Given the description of an element on the screen output the (x, y) to click on. 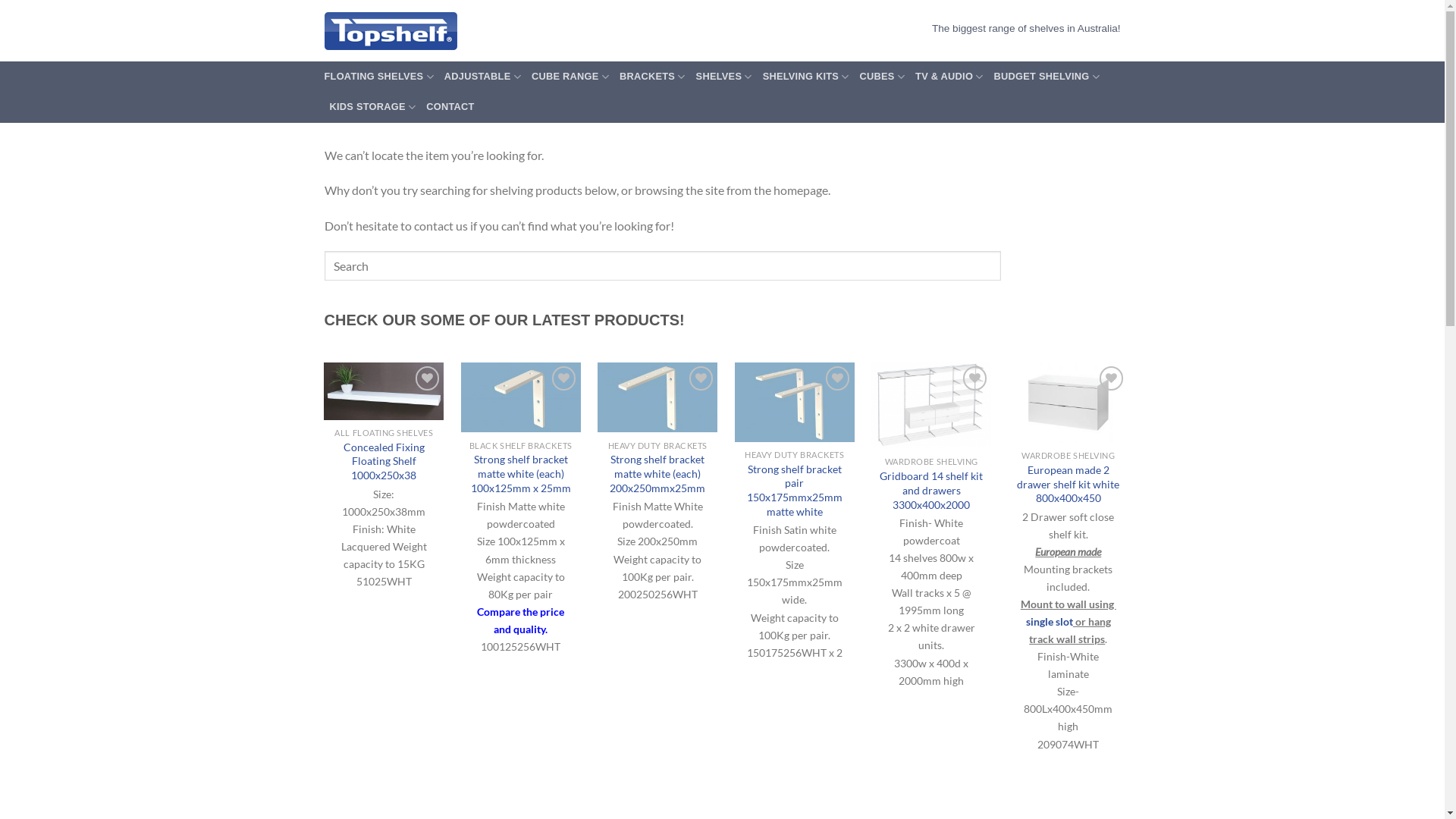
Splash Clip Brackets Anthracite black (pair of) Element type: text (1341, 521)
Strong shelf bracket matte white (each) 100x125mm x 25mm Element type: text (520, 473)
TV & AUDIO Element type: text (948, 76)
SHELVES Element type: text (724, 76)
FLOATING SHELVES Element type: text (378, 76)
CUBE RANGE Element type: text (569, 76)
European made 2 drawer shelf kit white 800x400x450 Element type: text (1068, 484)
SHELVING KITS Element type: text (805, 76)
Strong shelf bracket pair 150x175mmx25mm matte white Element type: text (794, 490)
ADJUSTABLE Element type: text (482, 76)
Gridboard 14 shelf kit and drawers 3300x400x2000 Element type: text (930, 490)
BUDGET SHELVING Element type: text (1046, 76)
Strong shelf bracket matte white (each) 200x250mmx25mm Element type: text (657, 473)
single slot Element type: text (1049, 622)
CONTACT Element type: text (449, 106)
KIDS STORAGE Element type: text (372, 106)
BRACKETS Element type: text (652, 76)
CUBES Element type: text (882, 76)
Concealed Fixing Floating Shelf 1000x250x38 Element type: text (383, 461)
Skip to content Element type: text (0, 0)
